Given the description of an element on the screen output the (x, y) to click on. 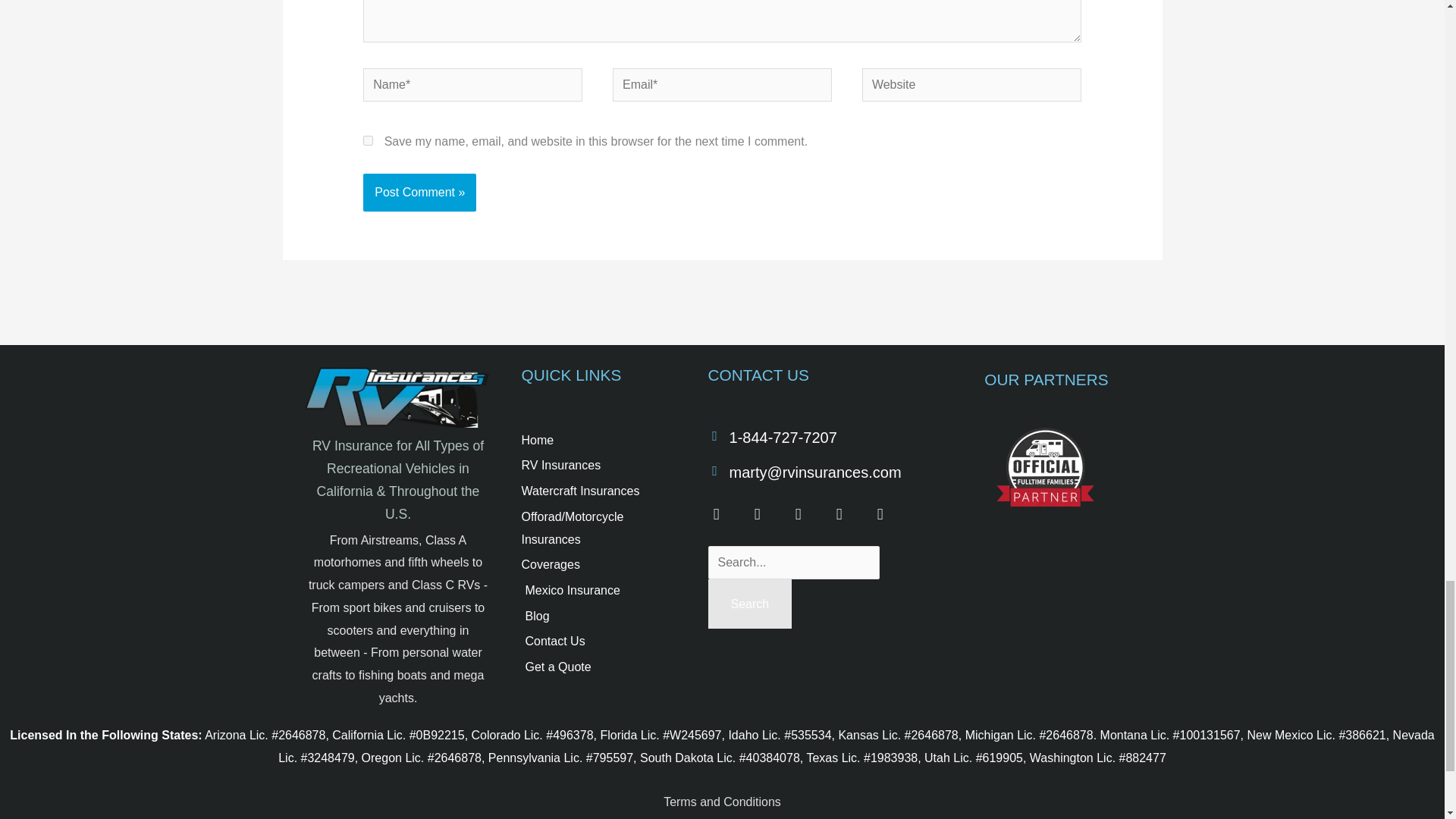
Watercraft Insurances (599, 490)
RV Insurances (599, 465)
Search (749, 604)
Search (749, 604)
Home (599, 440)
yes (367, 140)
